Given the description of an element on the screen output the (x, y) to click on. 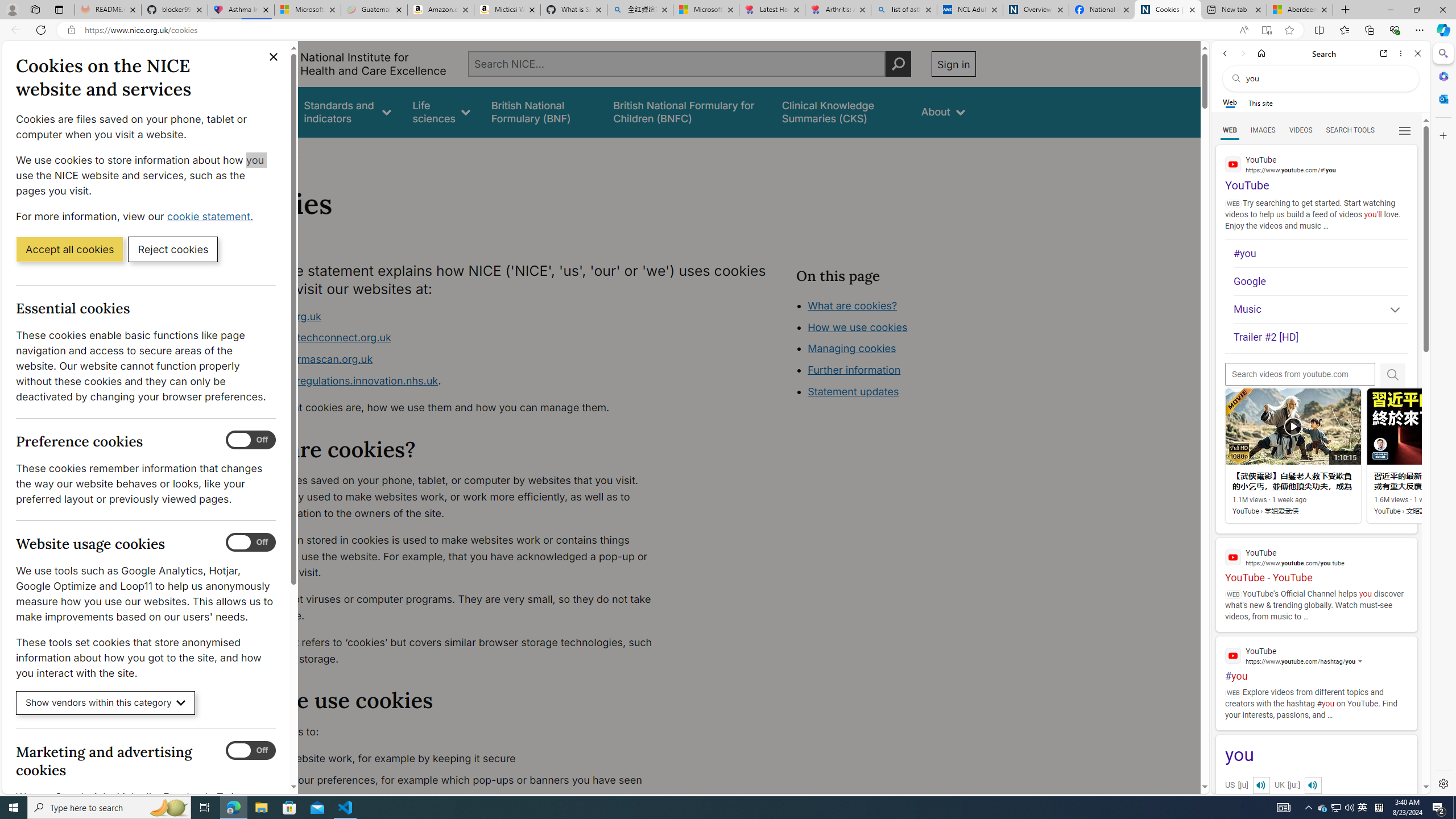
Guidance (260, 111)
Search Filter, IMAGES (1262, 129)
www.healthtechconnect.org.uk (314, 337)
Global web icon (1232, 655)
false (841, 111)
Show More Music (1390, 310)
list of asthma inhalers uk - Search (904, 9)
Arthritis: Ask Health Professionals (838, 9)
IMAGES (1262, 130)
Close cookie banner (273, 56)
Class: in-page-nav__list (884, 349)
